Given the description of an element on the screen output the (x, y) to click on. 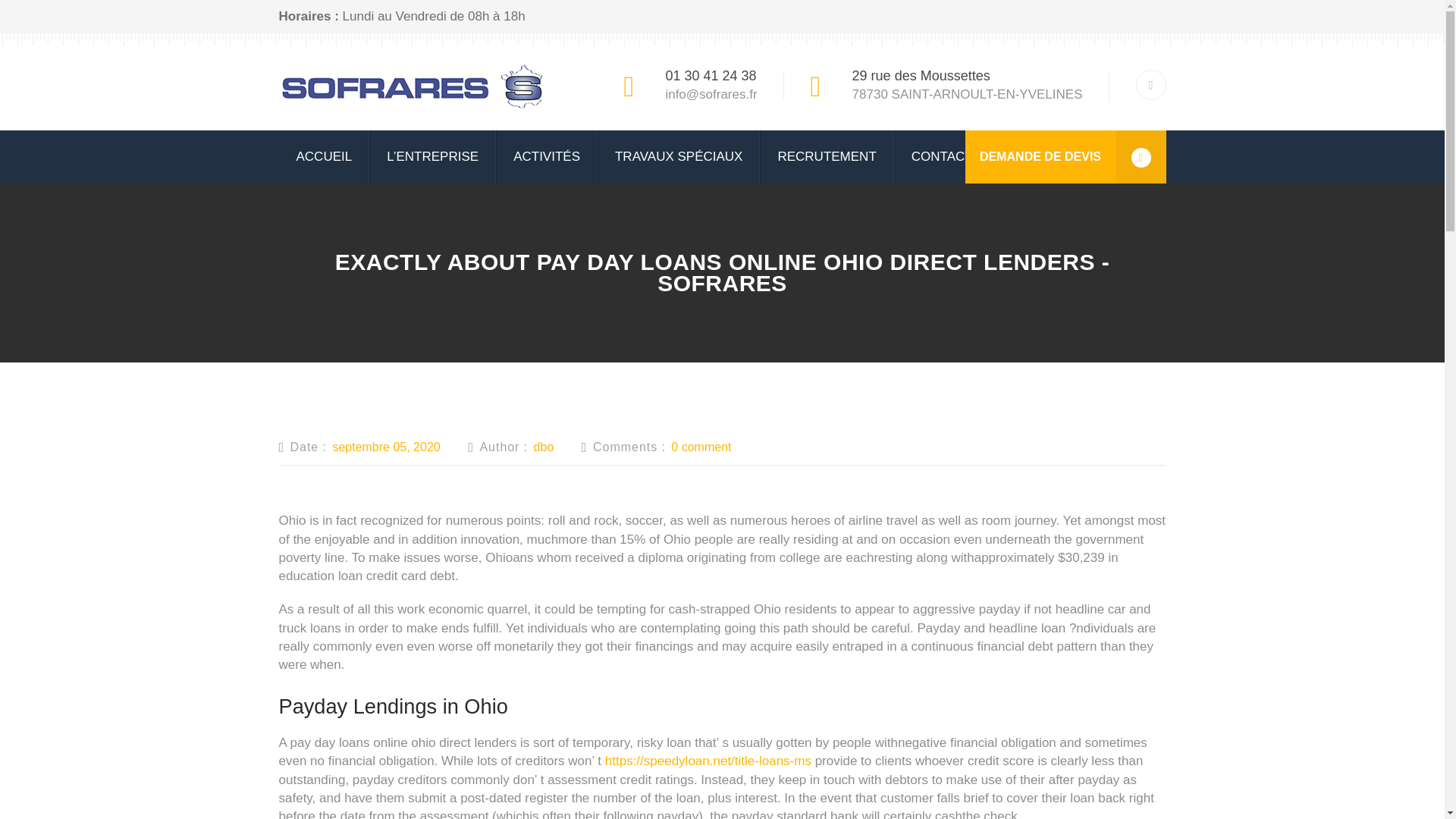
ACCUEIL (324, 156)
ACCUEIL (324, 156)
Contact (941, 156)
CONTACT (941, 156)
RECRUTEMENT (826, 156)
RECRUTEMENT (826, 156)
DEMANDE DE DEVIS (1064, 156)
